Given the description of an element on the screen output the (x, y) to click on. 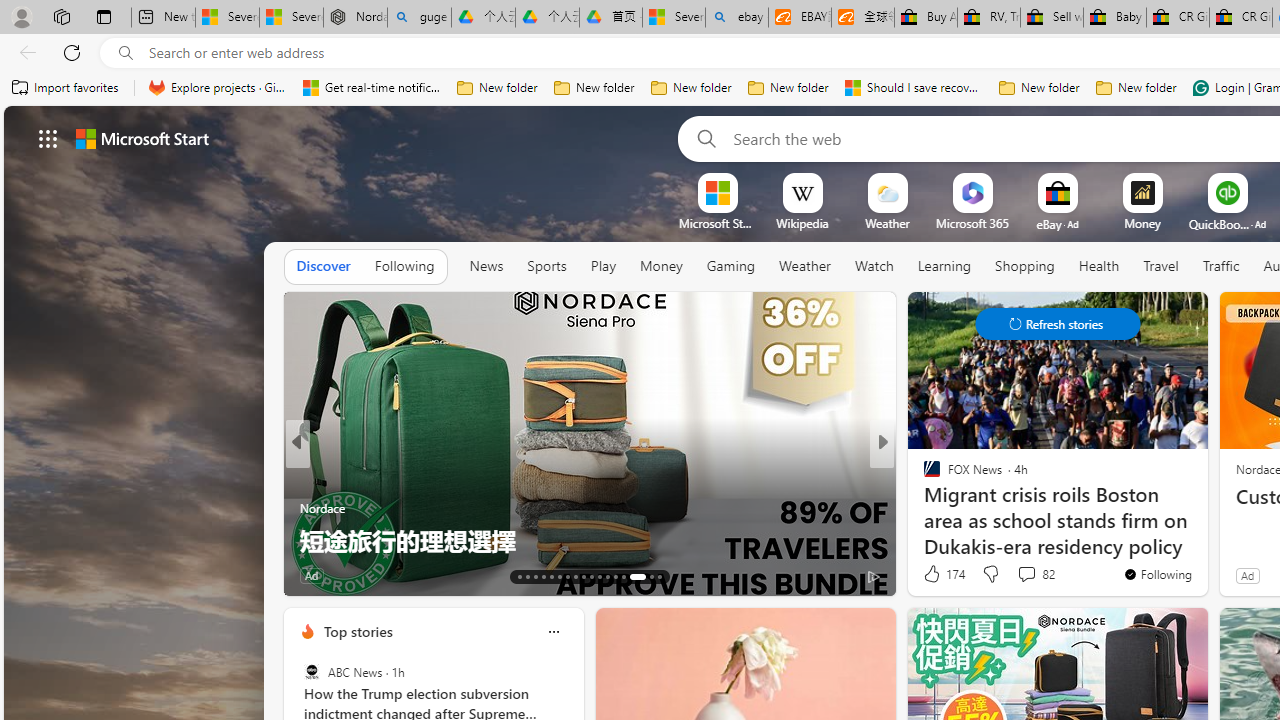
AutomationID: tab-26 (623, 576)
Start the conversation (997, 575)
Health (1099, 265)
Ad (1247, 575)
Travel (1160, 265)
AutomationID: tab-15 (535, 576)
Sell worldwide with eBay (1051, 17)
